Given the description of an element on the screen output the (x, y) to click on. 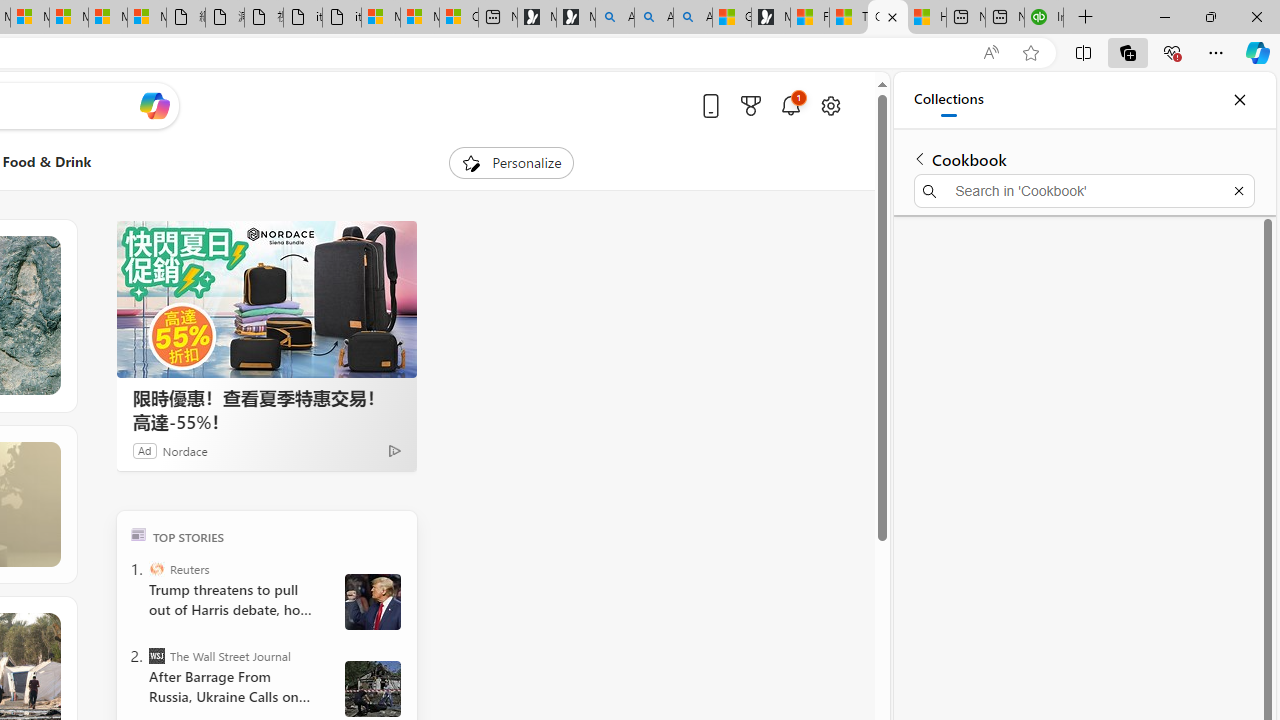
Open settings (830, 105)
The Wall Street Journal (156, 655)
Nordace (184, 450)
Ad (145, 450)
